Given the description of an element on the screen output the (x, y) to click on. 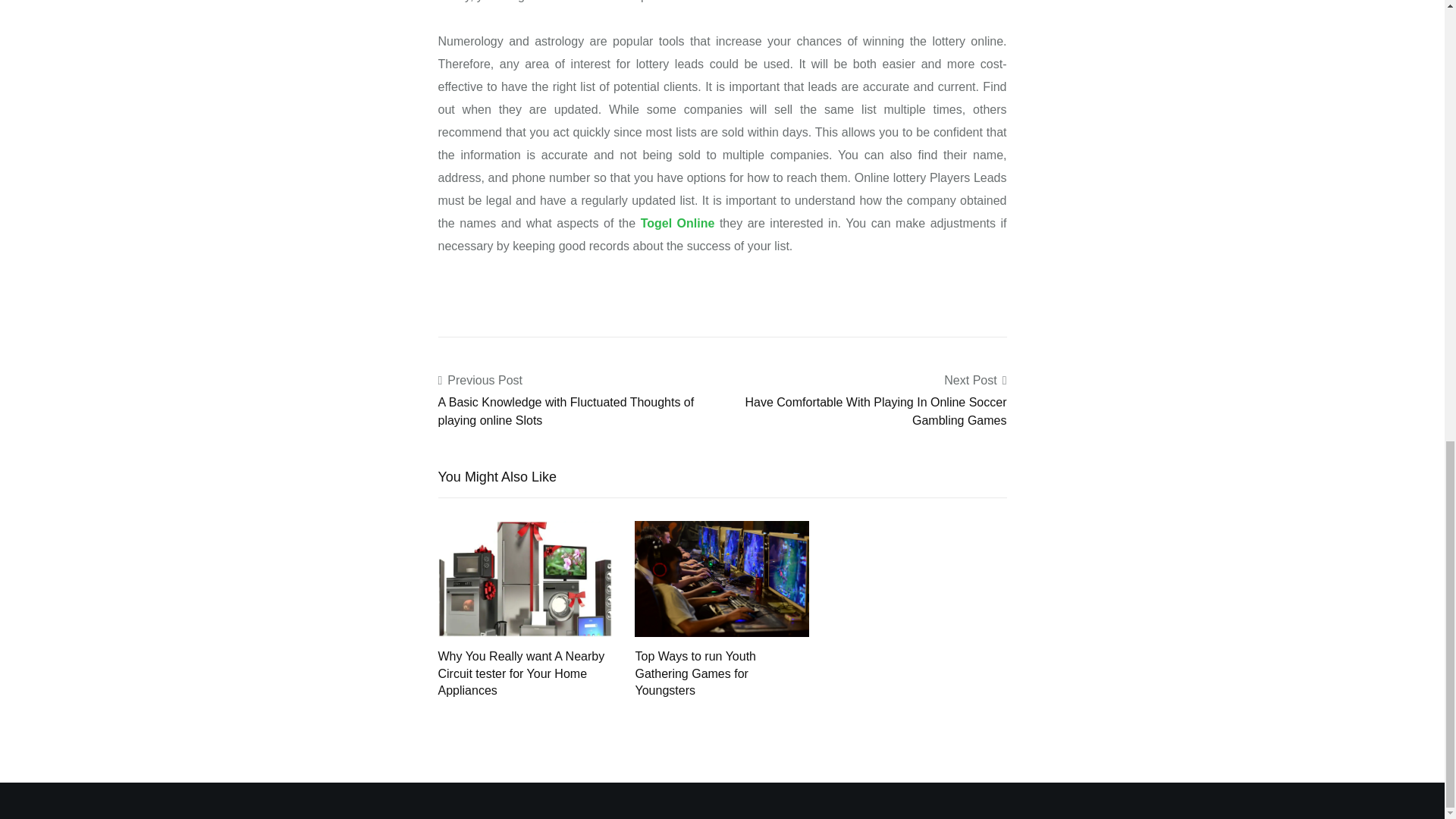
Top Ways to run Youth Gathering Games for Youngsters (721, 577)
Togel Online (677, 223)
Top Ways to run Youth Gathering Games for Youngsters (694, 673)
